Given the description of an element on the screen output the (x, y) to click on. 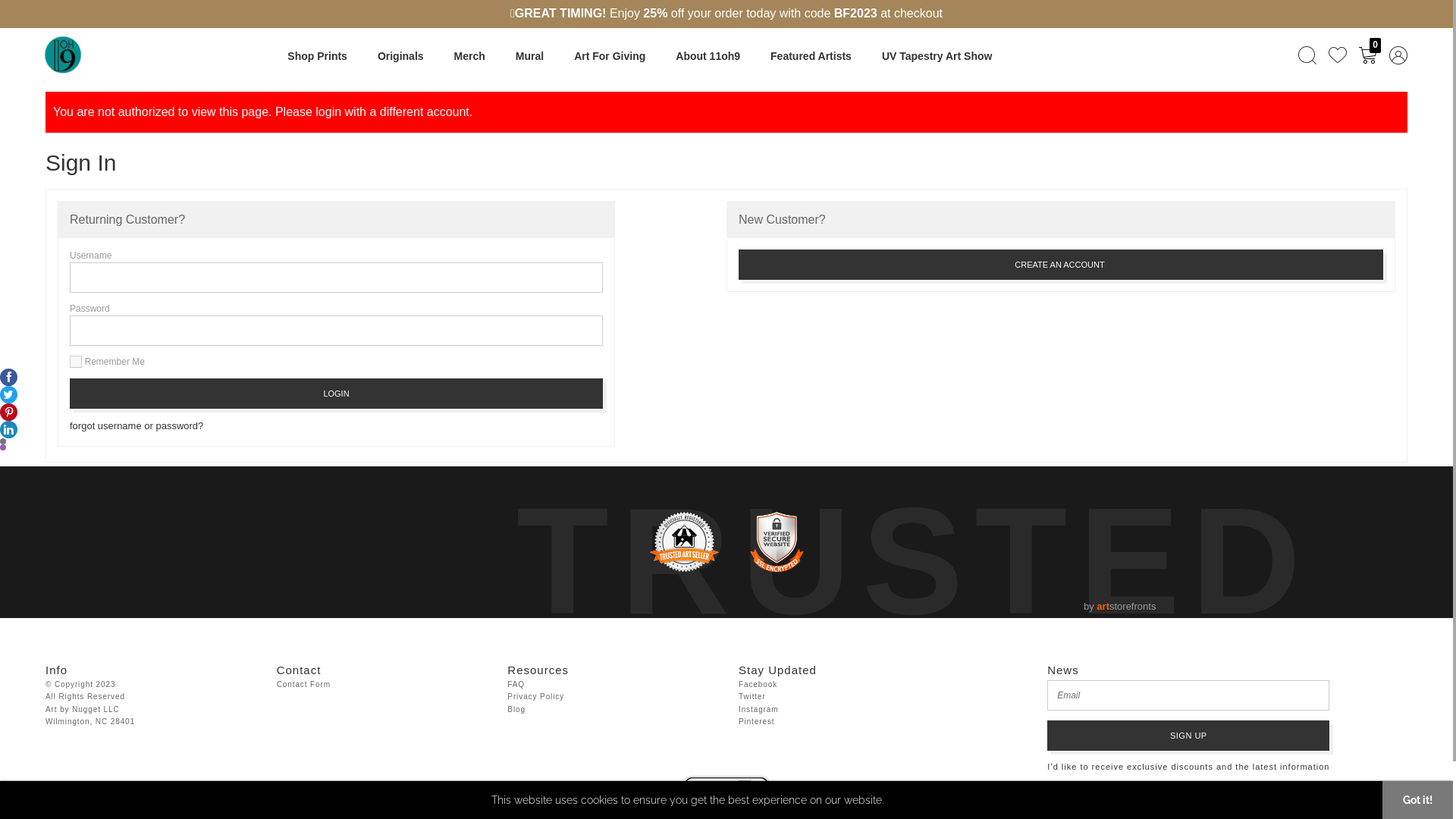
Privacy Policy Element type: text (535, 696)
Merch Element type: text (469, 55)
Twitter Element type: text (751, 696)
Facebook Element type: text (757, 684)
Featured Artists Element type: text (810, 55)
Contact Form Element type: text (303, 684)
Instagram Element type: text (758, 709)
Mural Element type: text (529, 55)
Pinterest Element type: text (756, 721)
Art For Giving Element type: text (609, 55)
UV Tapestry Art Show Element type: text (936, 55)
SIGN UP Element type: text (1188, 735)
Shop Prints Element type: text (317, 55)
by artstorefronts Element type: text (1119, 605)
Blog Element type: text (516, 709)
Login Element type: text (335, 393)
Originals Element type: text (400, 55)
0 Element type: text (1367, 53)
CREATE AN ACCOUNT Element type: text (1060, 264)
forgot username or password? Element type: text (136, 425)
FAQ Element type: text (515, 684)
About 11oh9 Element type: text (707, 55)
